Given the description of an element on the screen output the (x, y) to click on. 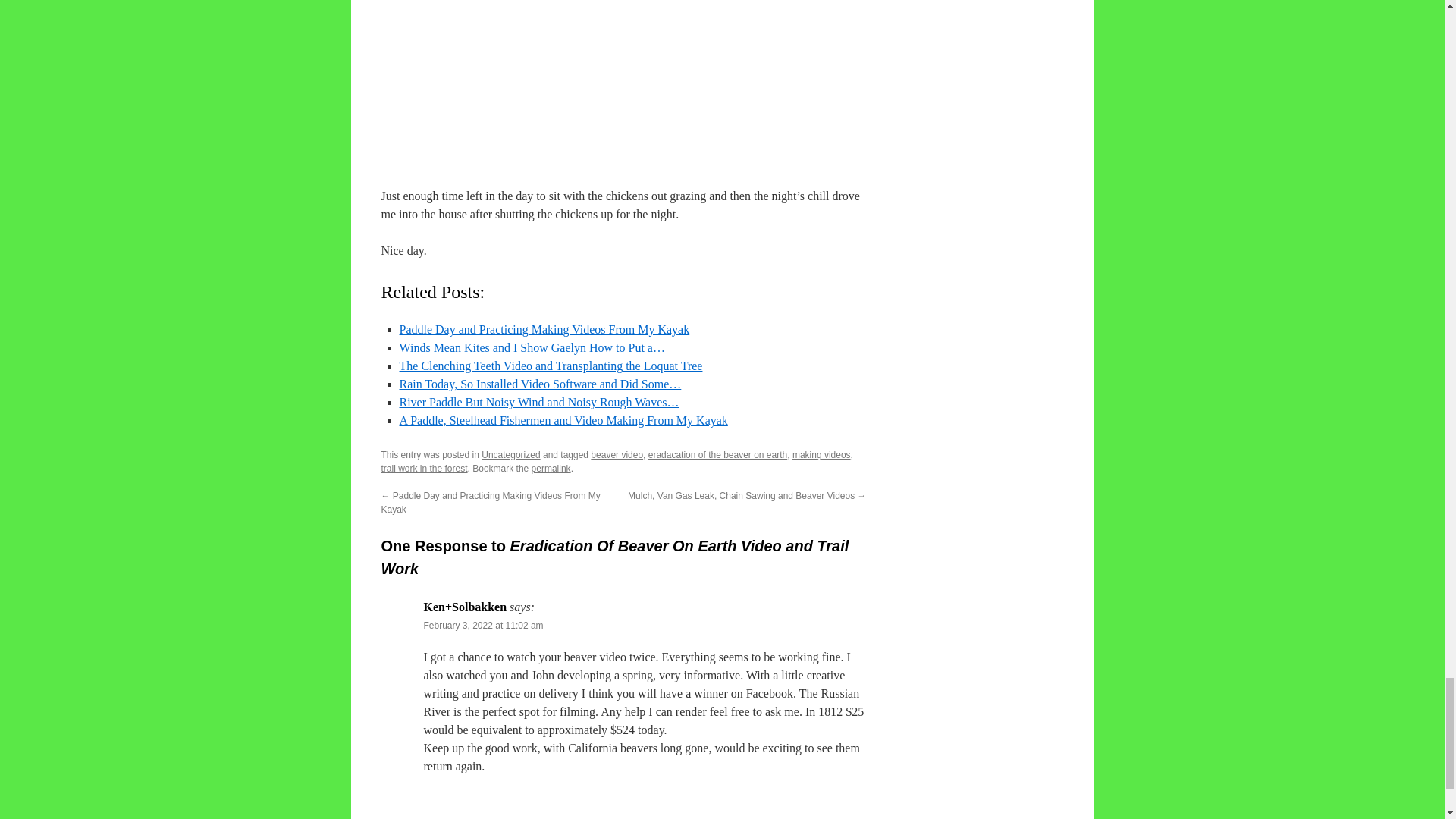
making videos (821, 454)
patch9 (630, 63)
permalink (550, 468)
beaver video (617, 454)
Paddle Day and Practicing Making Videos From My Kayak (543, 328)
Uncategorized (510, 454)
The Clenching Teeth Video and Transplanting the Loquat Tree (549, 365)
A Paddle, Steelhead Fishermen and Video Making From My Kayak (562, 420)
trail work in the forest (423, 468)
February 3, 2022 at 11:02 am (483, 624)
